Given the description of an element on the screen output the (x, y) to click on. 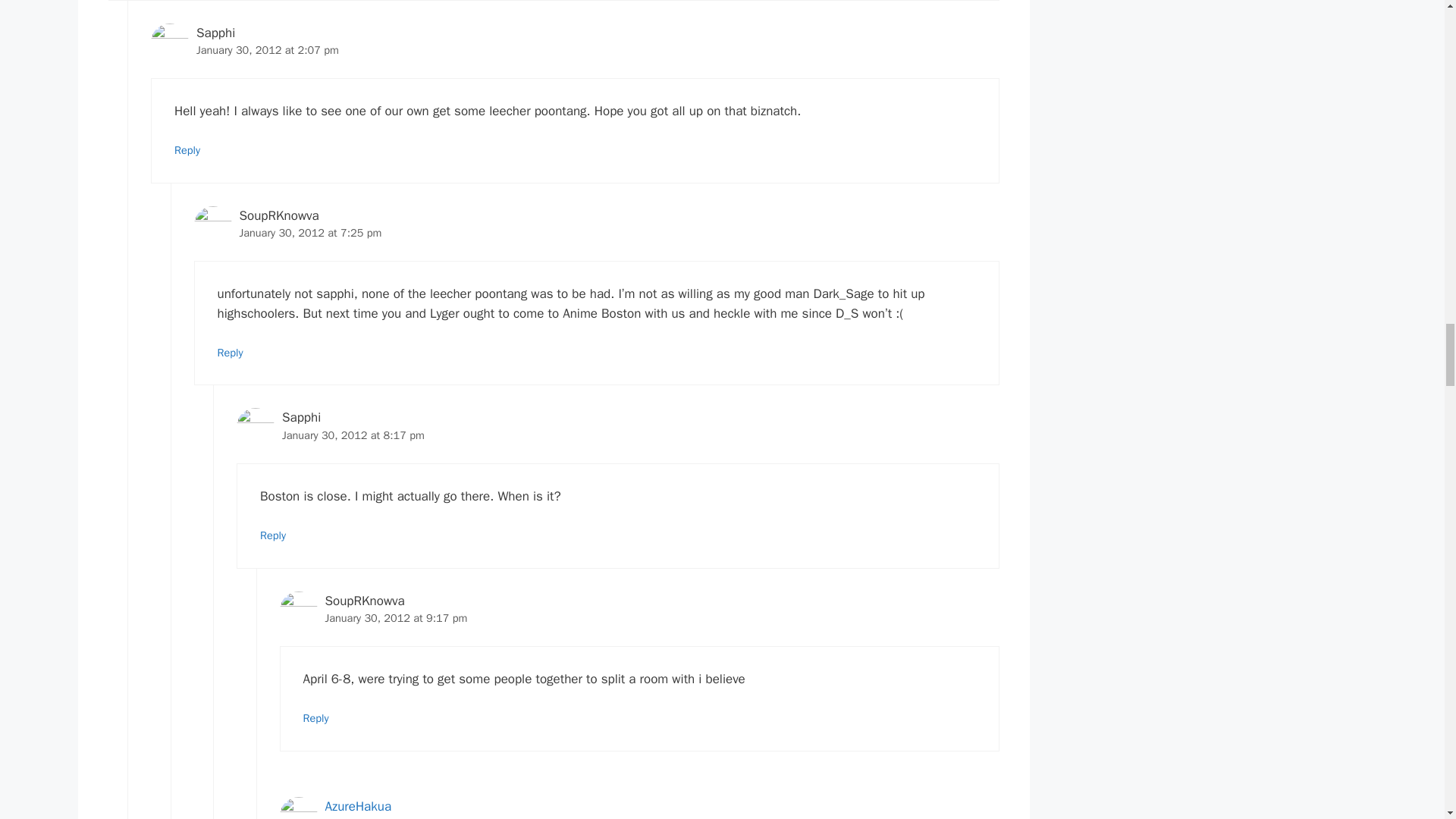
Reply (187, 150)
January 30, 2012 at 7:25 pm (310, 232)
January 30, 2012 at 2:07 pm (267, 49)
Reply (229, 352)
January 30, 2012 at 8:17 pm (353, 435)
